Given the description of an element on the screen output the (x, y) to click on. 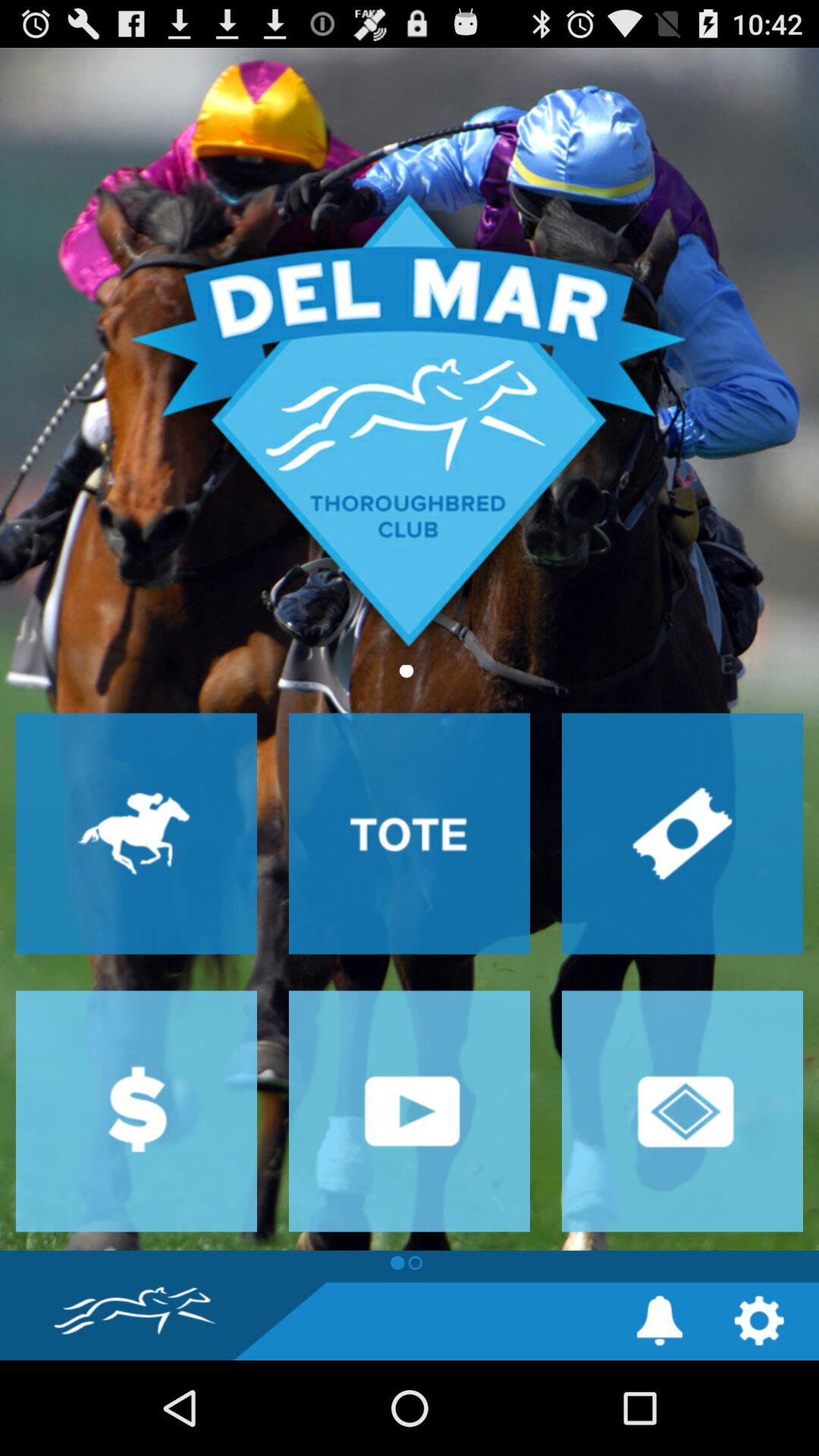
buy tickets (682, 833)
